Given the description of an element on the screen output the (x, y) to click on. 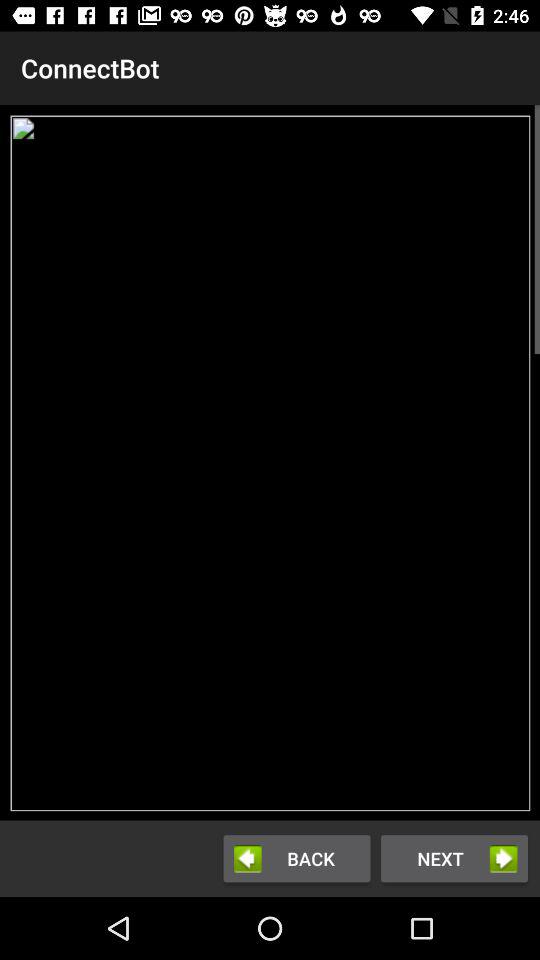
turn on the next at the bottom right corner (454, 858)
